Given the description of an element on the screen output the (x, y) to click on. 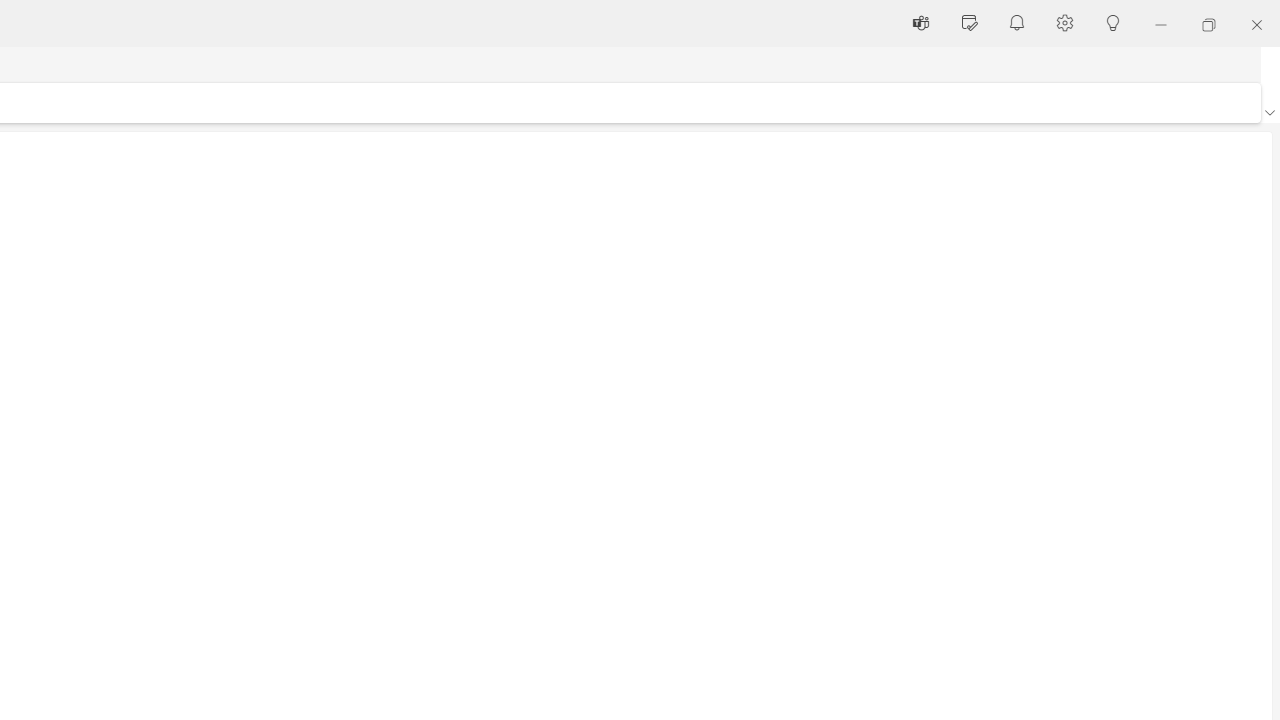
Ribbon display options (1269, 112)
